Given the description of an element on the screen output the (x, y) to click on. 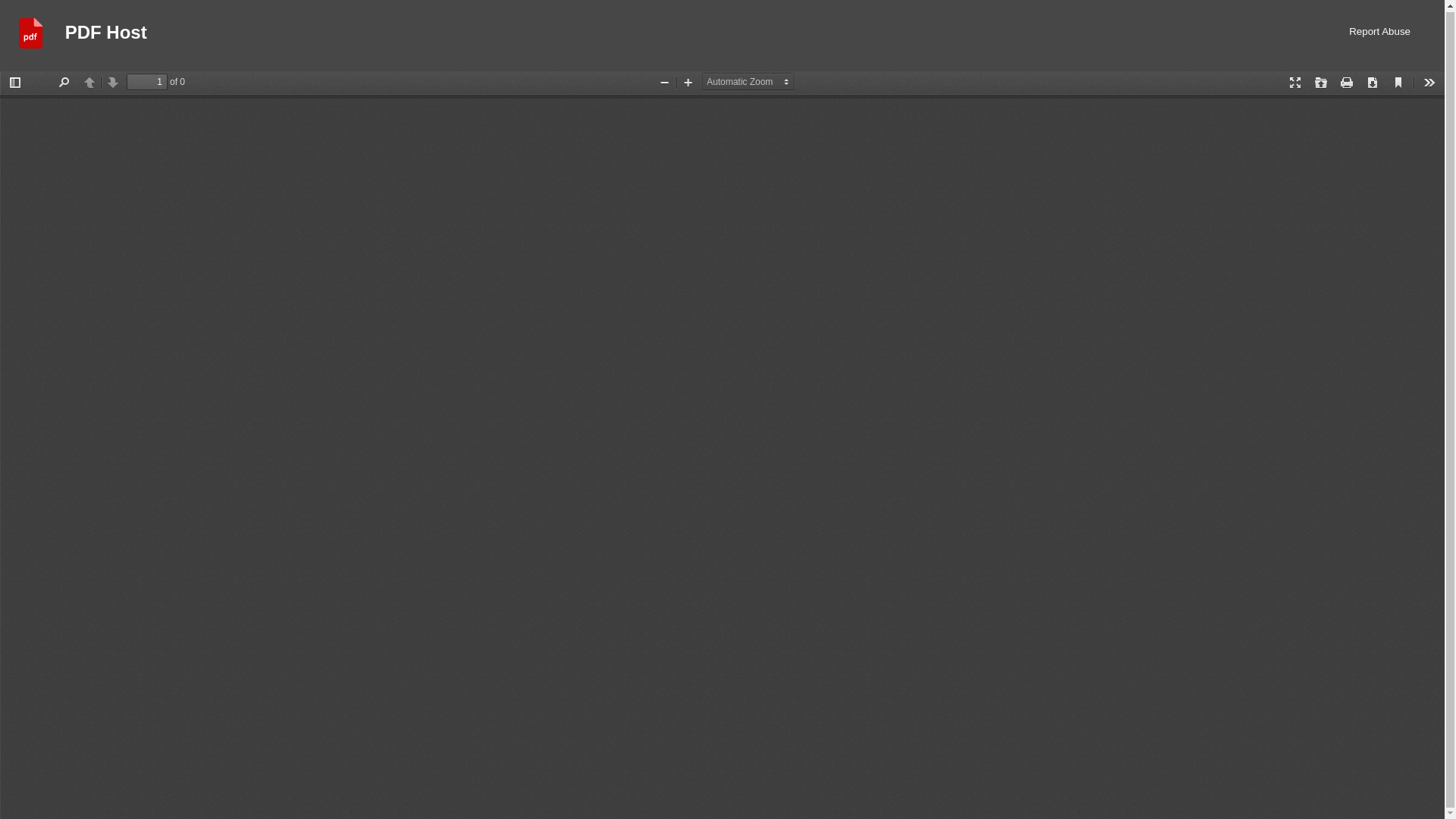
Report Abuse (1379, 34)
1 (146, 81)
Find in Document (62, 81)
PDF Host (106, 34)
Toggle Sidebar (14, 81)
